Given the description of an element on the screen output the (x, y) to click on. 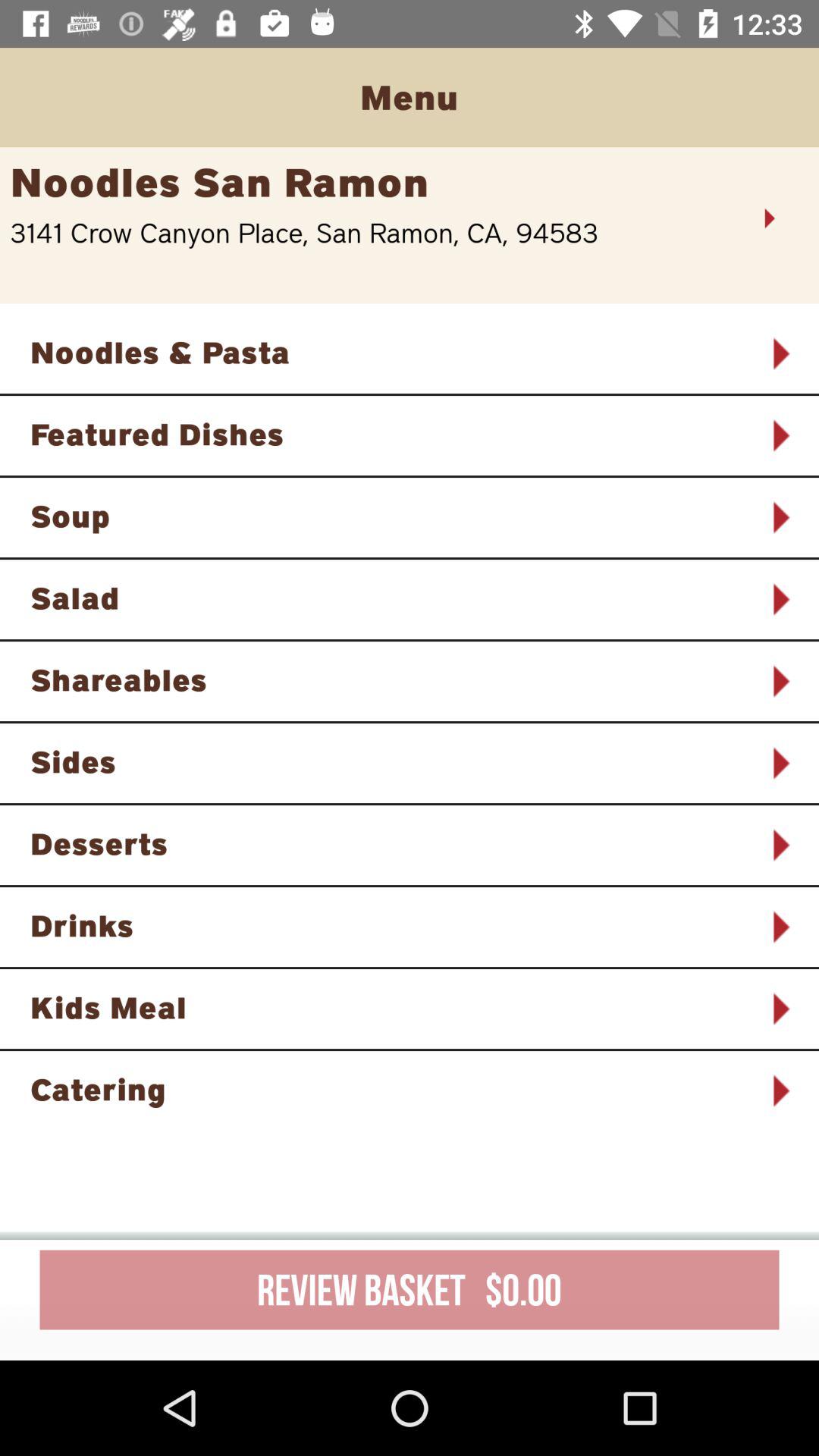
turn off the icon below the salad  icon (390, 679)
